Given the description of an element on the screen output the (x, y) to click on. 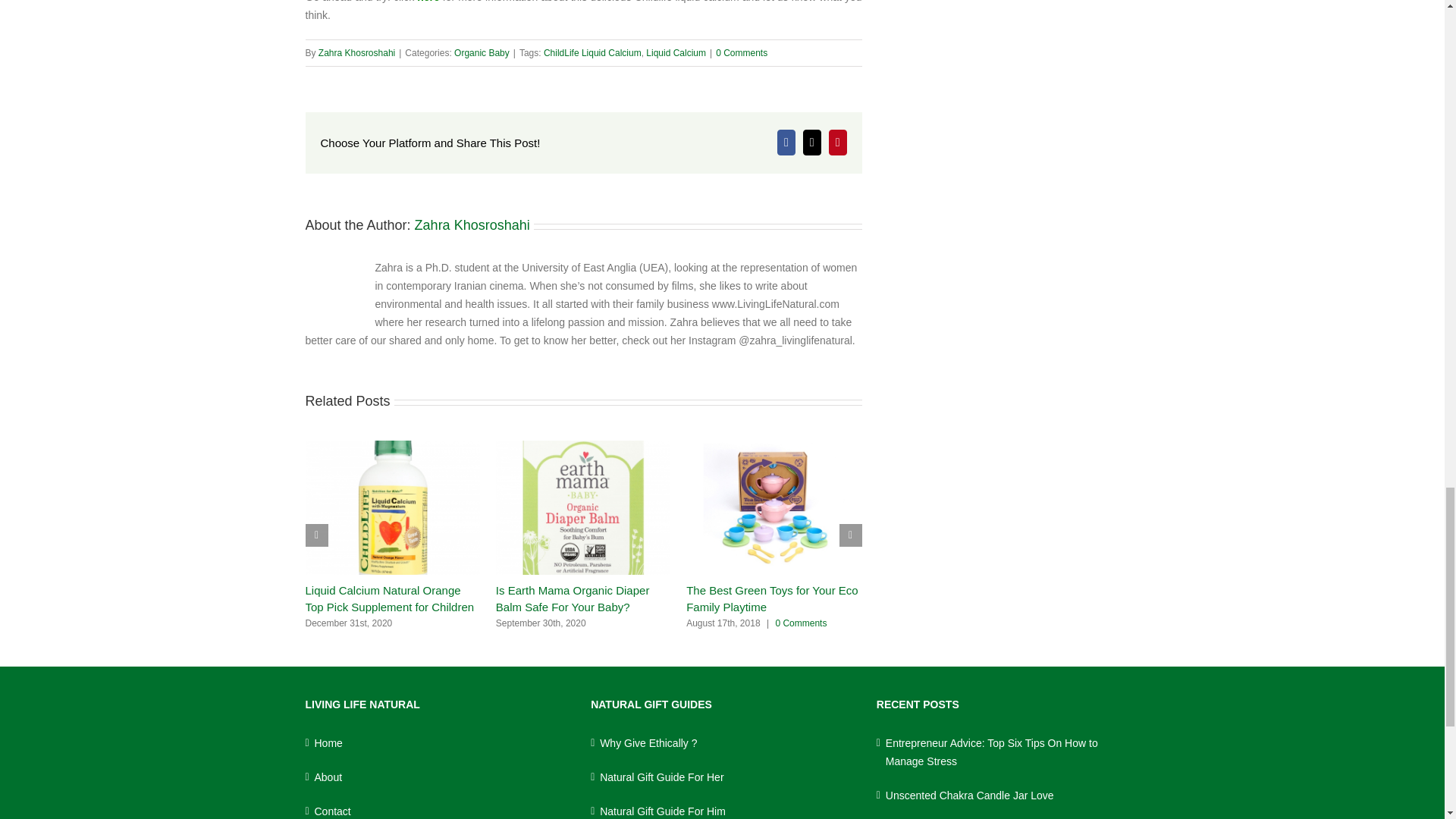
Is Earth Mama Organic Diaper Balm Safe For Your Baby? (572, 597)
Posts by Zahra Khosroshahi (356, 52)
The Best Green Toys for Your Eco Family Playtime (772, 597)
Posts by Zahra Khosroshahi (471, 224)
